Given the description of an element on the screen output the (x, y) to click on. 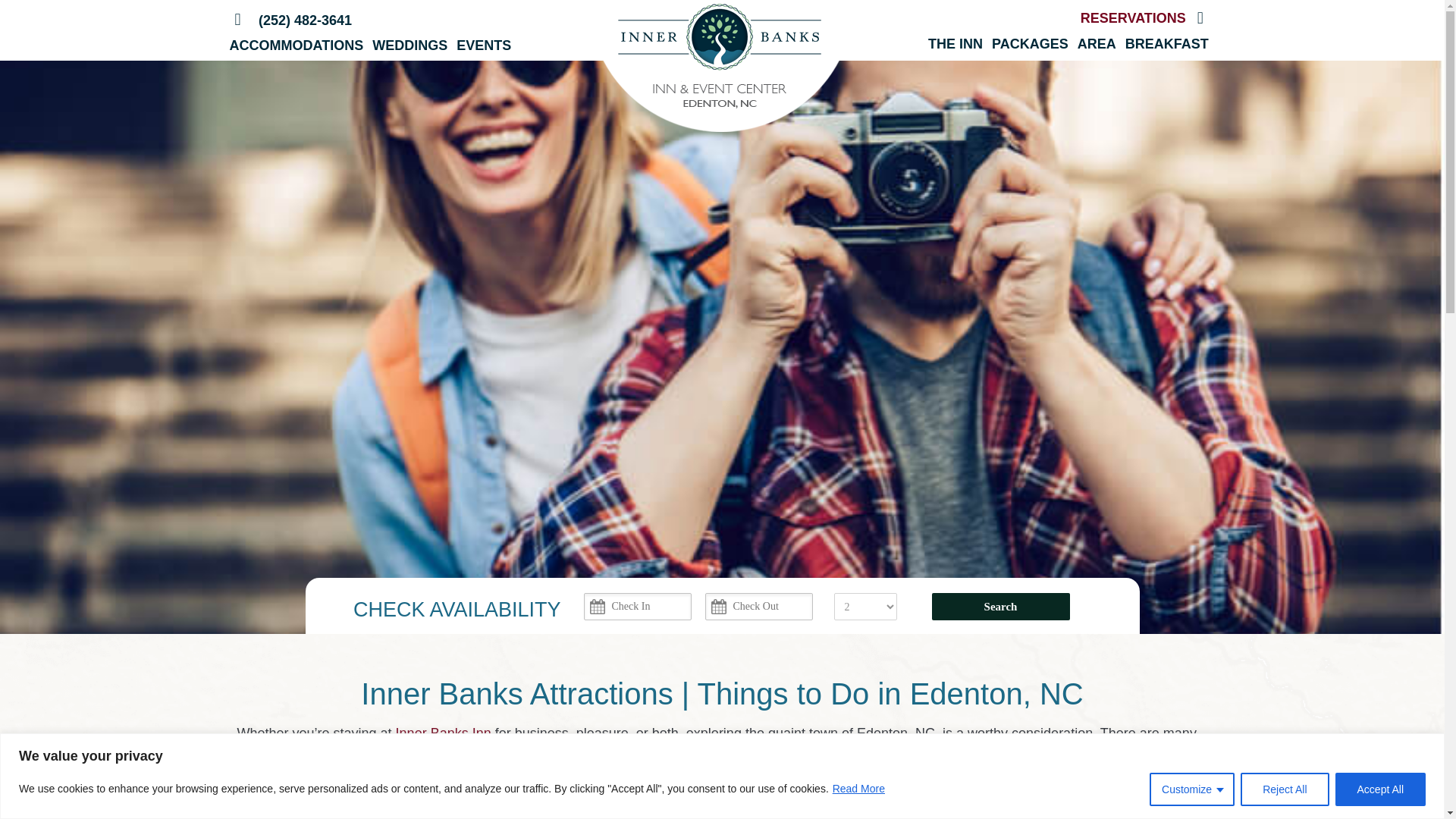
Read More (858, 788)
Accept All (1380, 788)
RESERVATIONS (1133, 17)
WEDDINGS (409, 45)
Search (999, 605)
BREAKFAST (1166, 43)
Full Menu (1200, 17)
Home (237, 19)
PACKAGES (1029, 43)
Customize (1192, 788)
